Given the description of an element on the screen output the (x, y) to click on. 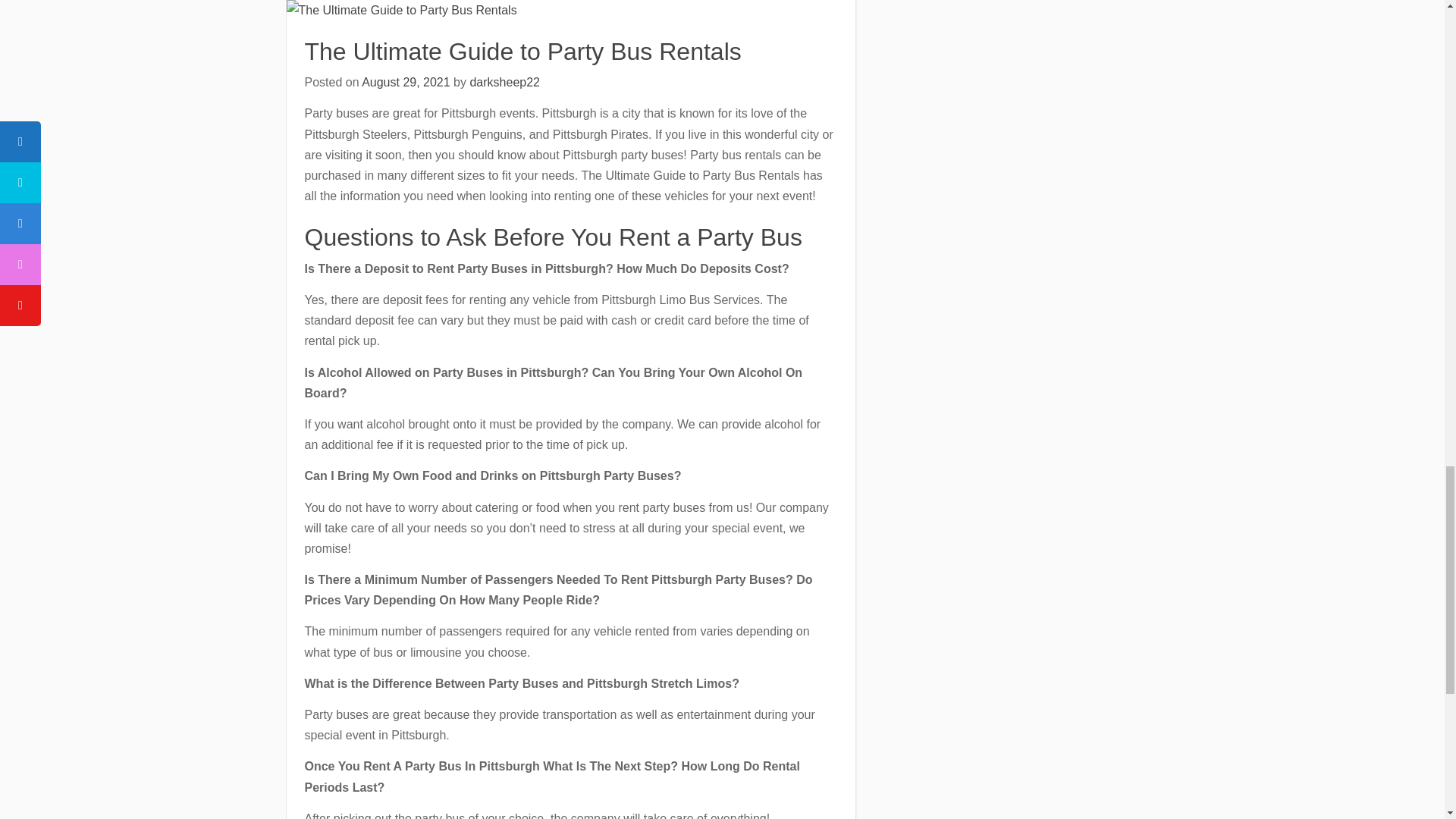
The Ultimate Guide to Party Bus Rentals (522, 51)
darksheep22 (504, 82)
August 29, 2021 (405, 82)
